Given the description of an element on the screen output the (x, y) to click on. 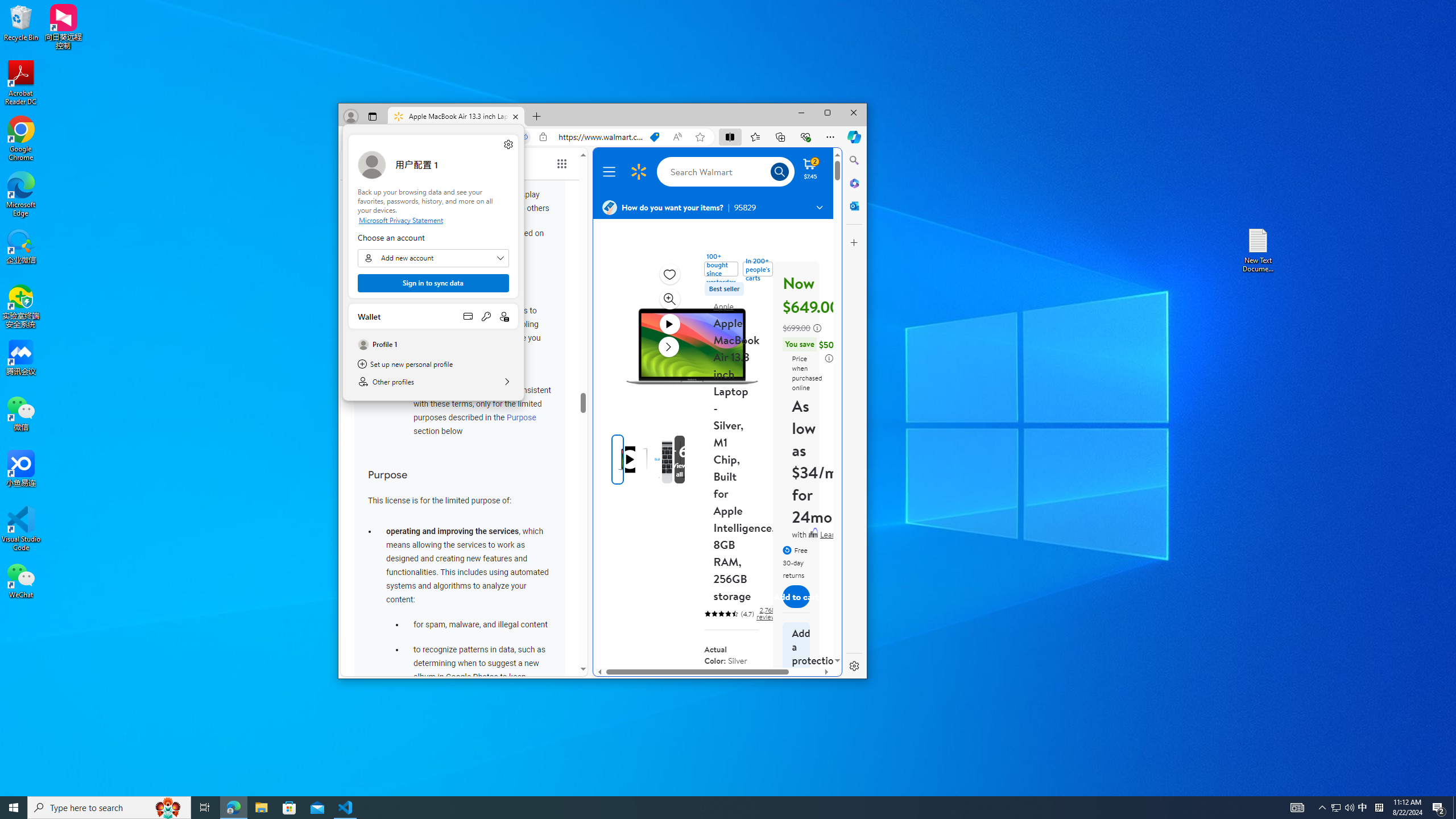
Microsoft 365 (854, 182)
Gold Gold, $649.00 (715, 692)
Search (725, 171)
Learn how (837, 534)
Set up new personal profile (432, 363)
Microsoft Privacy Statement (433, 220)
Open payment methods (467, 316)
View all media (698, 459)
Open passwords (486, 316)
Walmart Homepage (637, 171)
